Given the description of an element on the screen output the (x, y) to click on. 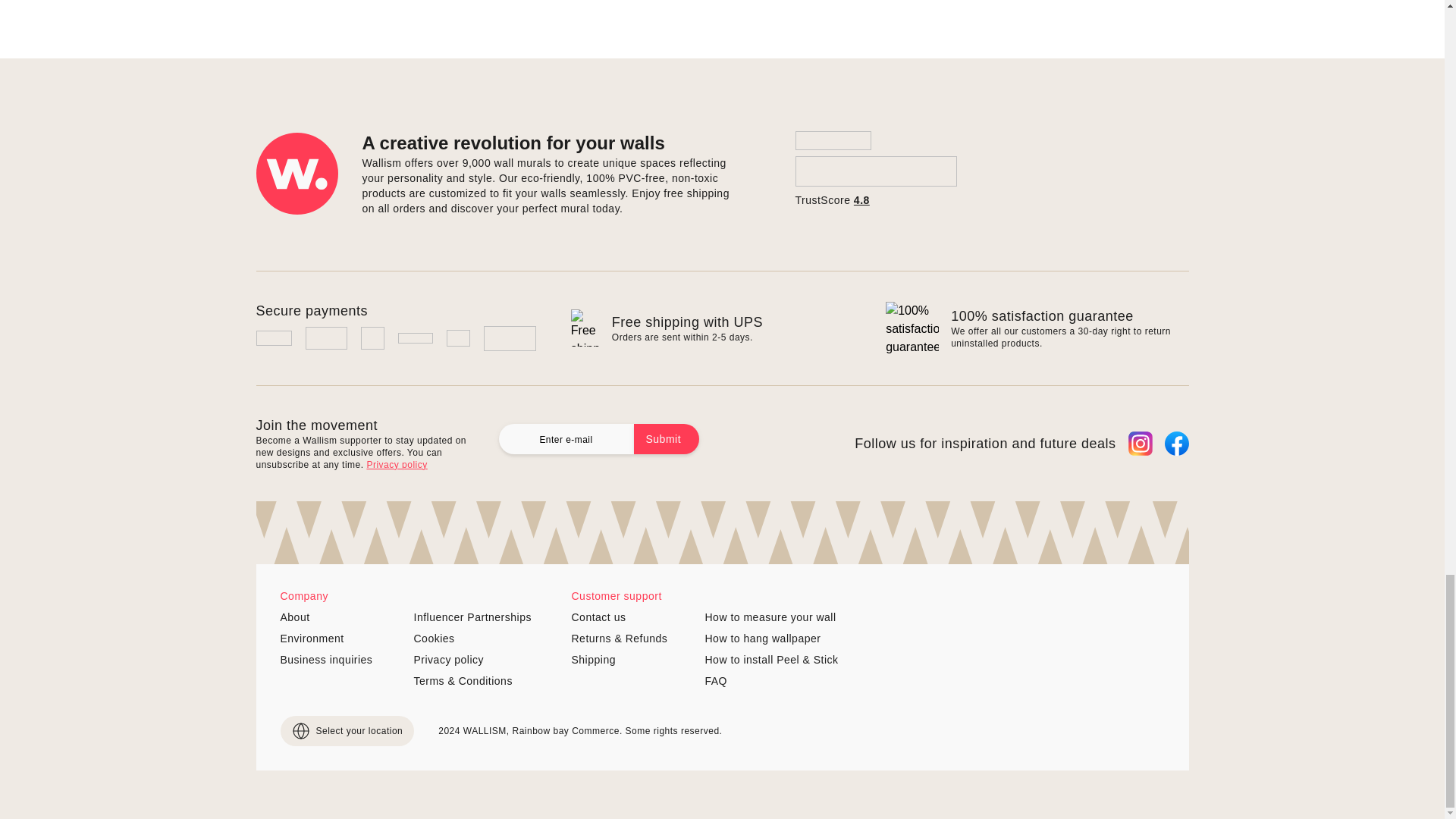
Influencer Partnerships (474, 617)
How to measure your wall (771, 617)
Cookies (474, 638)
Environment (341, 638)
Contact us (632, 617)
Privacy policy (396, 464)
Privacy policy (474, 659)
Submit (666, 439)
Business inquiries (341, 659)
TrustScore 4.8 (875, 169)
